Given the description of an element on the screen output the (x, y) to click on. 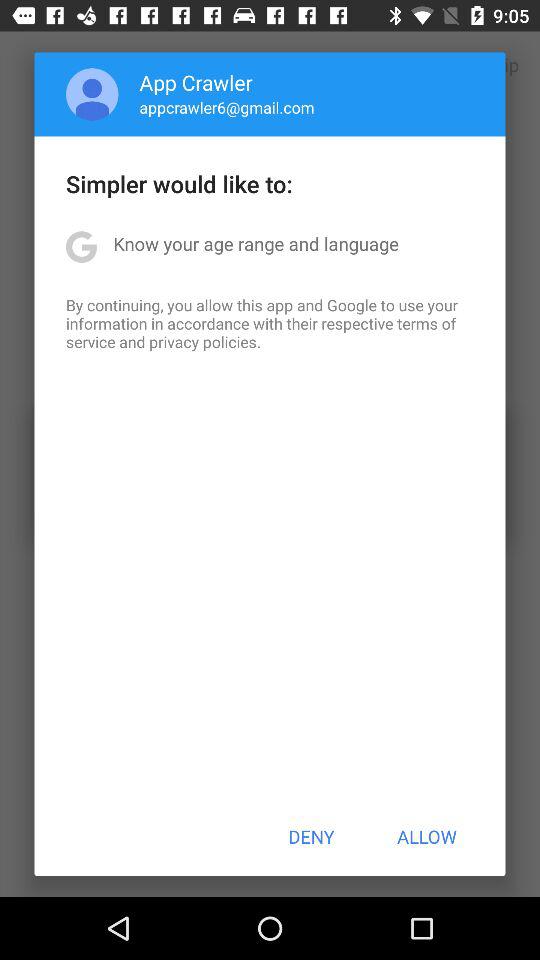
tap item below the app crawler (226, 107)
